Given the description of an element on the screen output the (x, y) to click on. 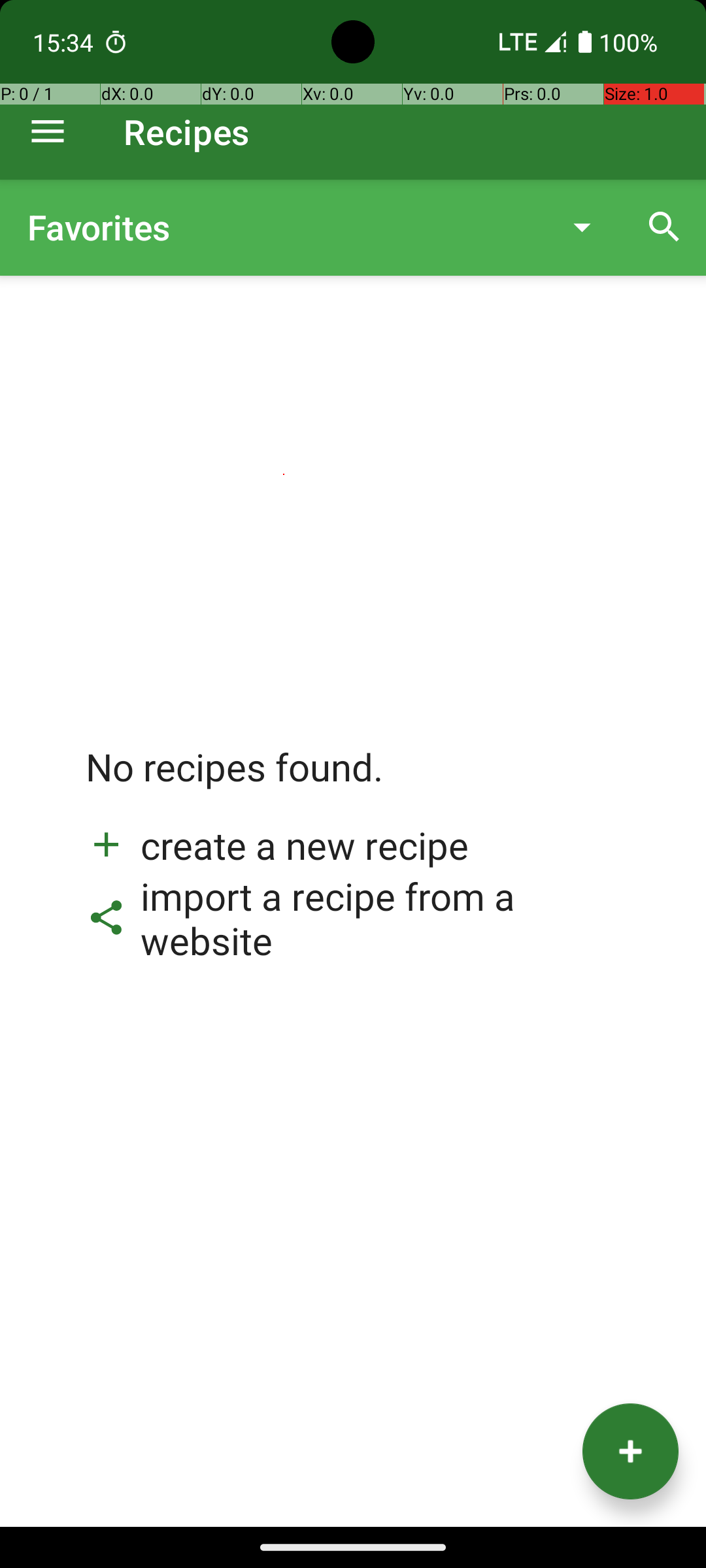
No recipes found. Element type: android.widget.TextView (234, 779)
create a new recipe Element type: android.widget.TextView (276, 844)
import a recipe from a website Element type: android.widget.TextView (352, 917)
